Given the description of an element on the screen output the (x, y) to click on. 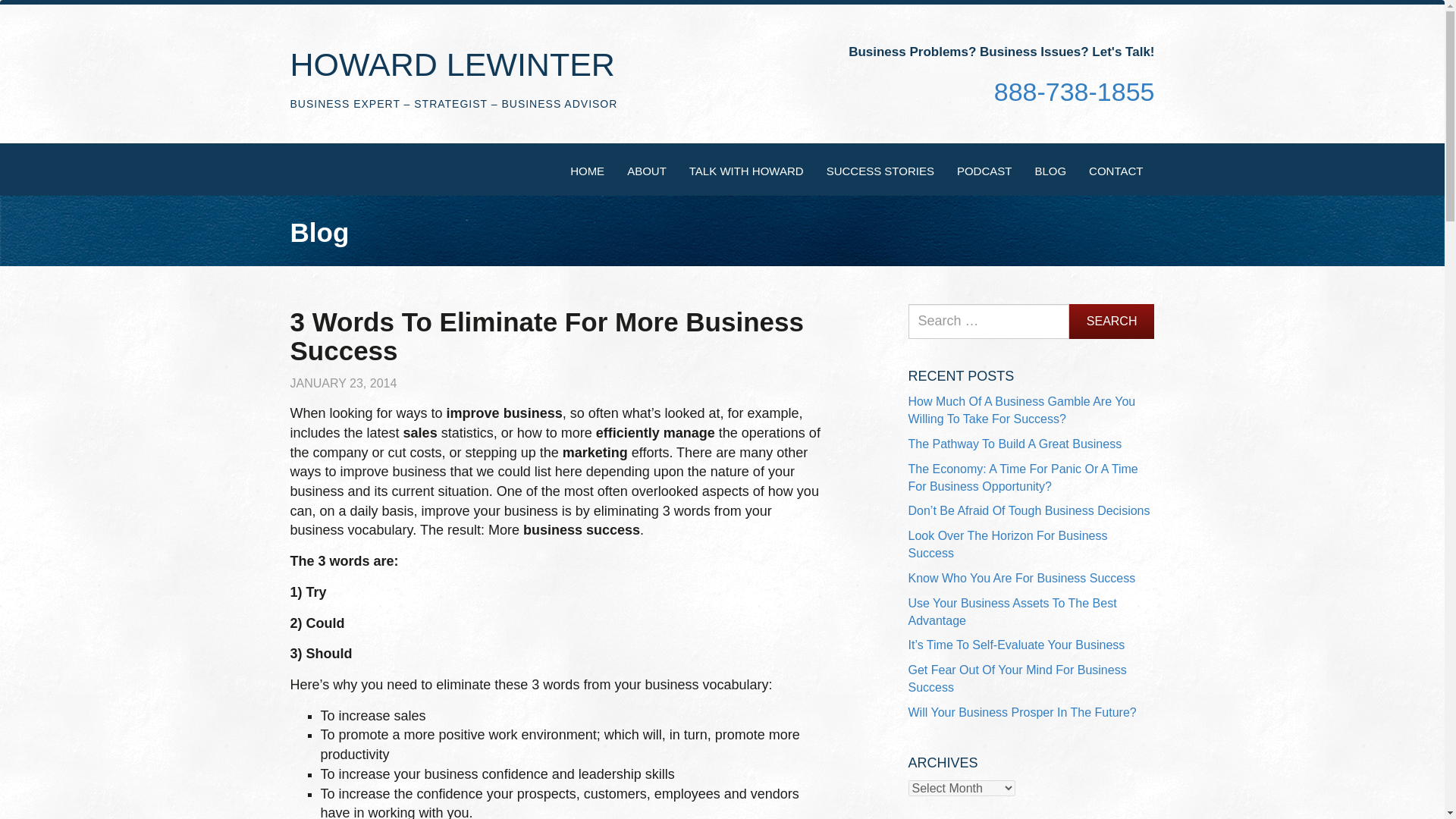
888-738-1855 (1074, 91)
HOME (587, 169)
Look Over The Horizon For Business Success (1008, 544)
Facebook (904, 86)
ABOUT (646, 169)
LinkedIn (934, 86)
TALK WITH HOWARD (746, 169)
LinkedIn (934, 84)
Blog (1050, 169)
BLOG (1050, 169)
CONTACT (1115, 169)
SEARCH (1111, 321)
Talk With Howard (746, 169)
